Given the description of an element on the screen output the (x, y) to click on. 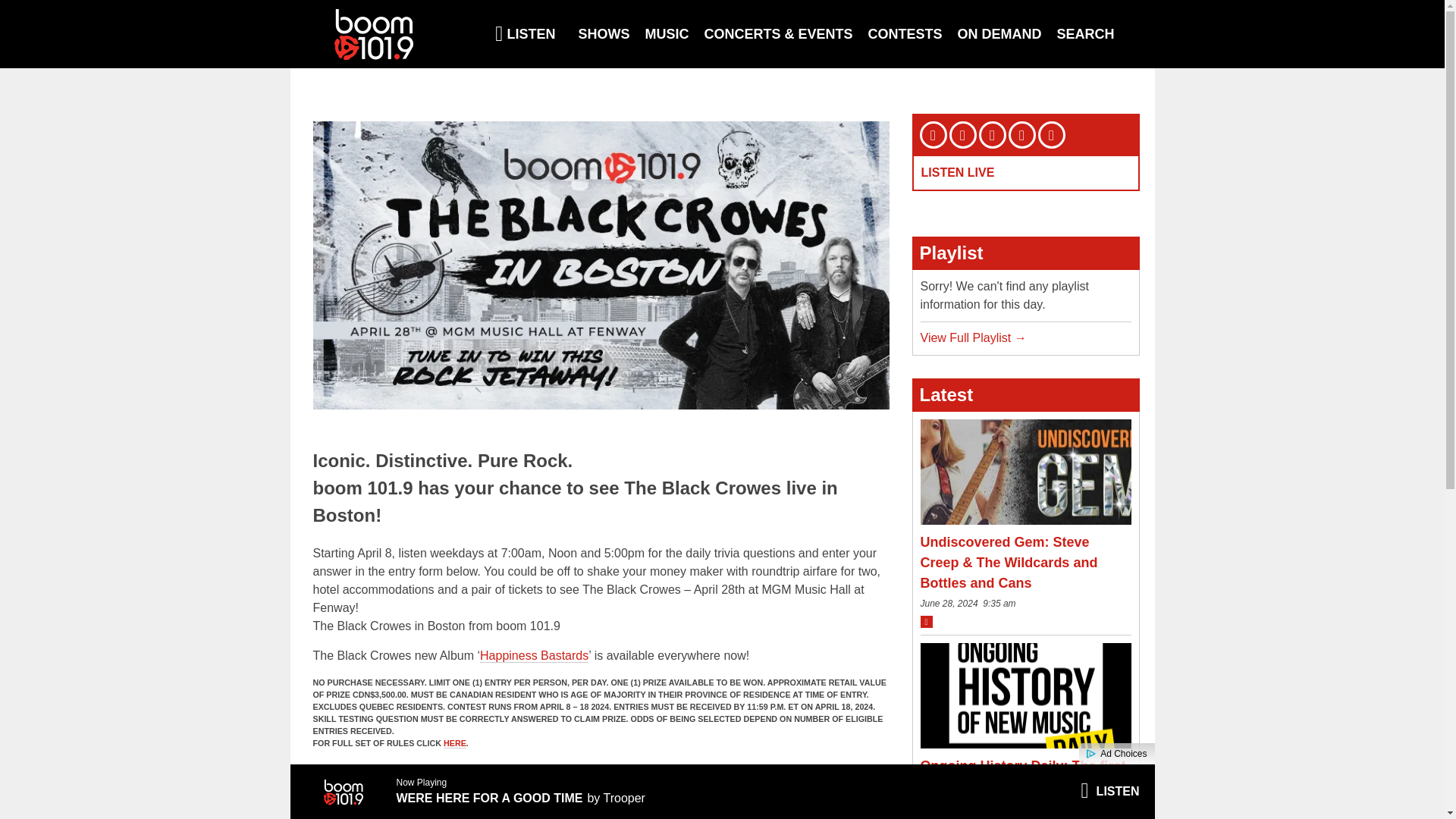
ON DEMAND (999, 33)
SHOWS (603, 33)
LISTEN LIVE (957, 172)
Happiness Bastards (534, 655)
SEARCH (1085, 33)
LISTEN (525, 33)
HERE (454, 743)
CONTESTS (905, 33)
Listen live (1109, 791)
